Given the description of an element on the screen output the (x, y) to click on. 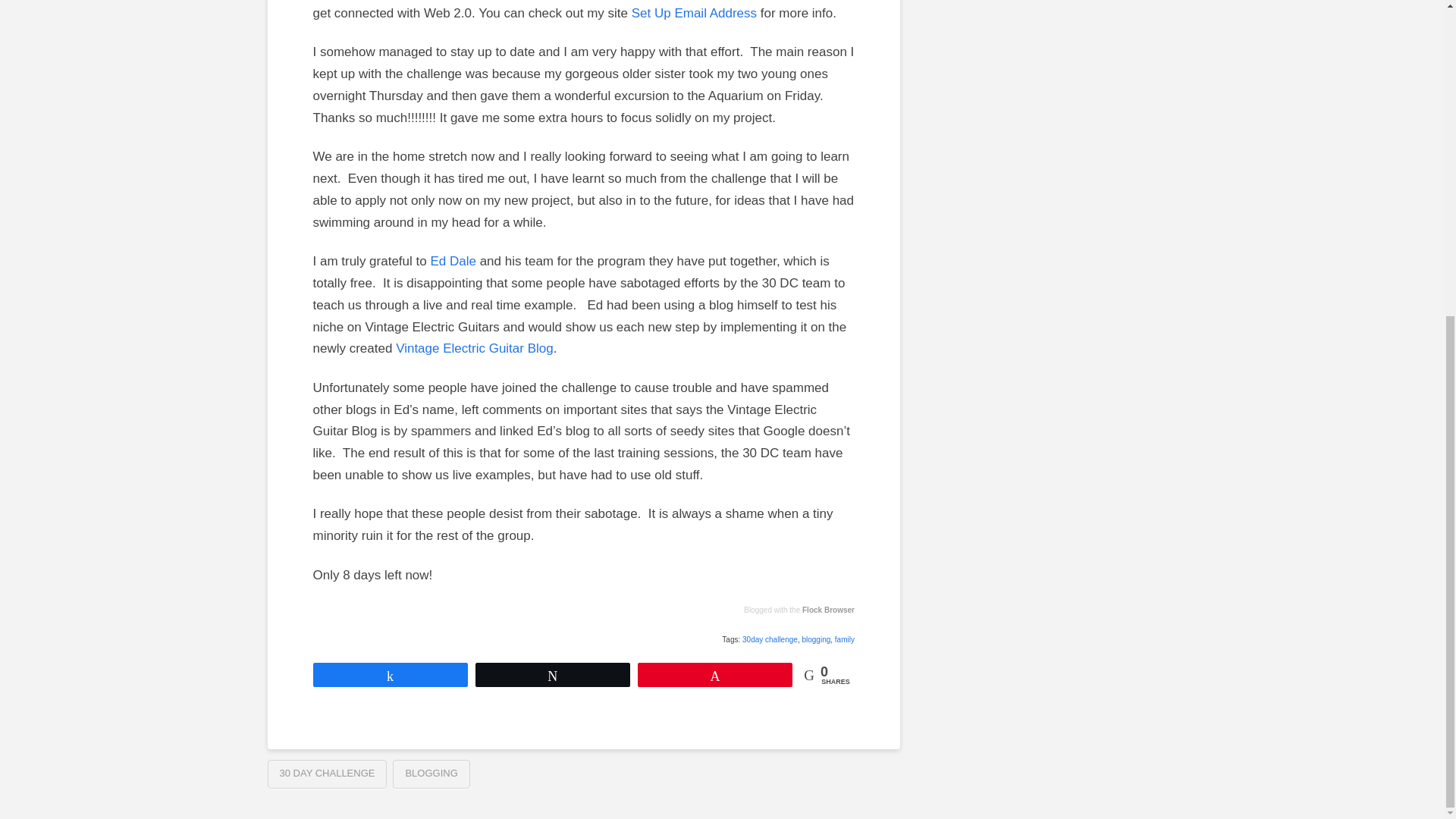
30 DAY CHALLENGE (326, 774)
Flock Browser (828, 610)
BLOGGING (430, 774)
Vintage Electric Guitar Blog (474, 348)
Flock Browser (828, 610)
Set Up Email Address (694, 12)
family (844, 639)
Ed Dale (452, 260)
30day challenge (769, 639)
blogging (815, 639)
